Given the description of an element on the screen output the (x, y) to click on. 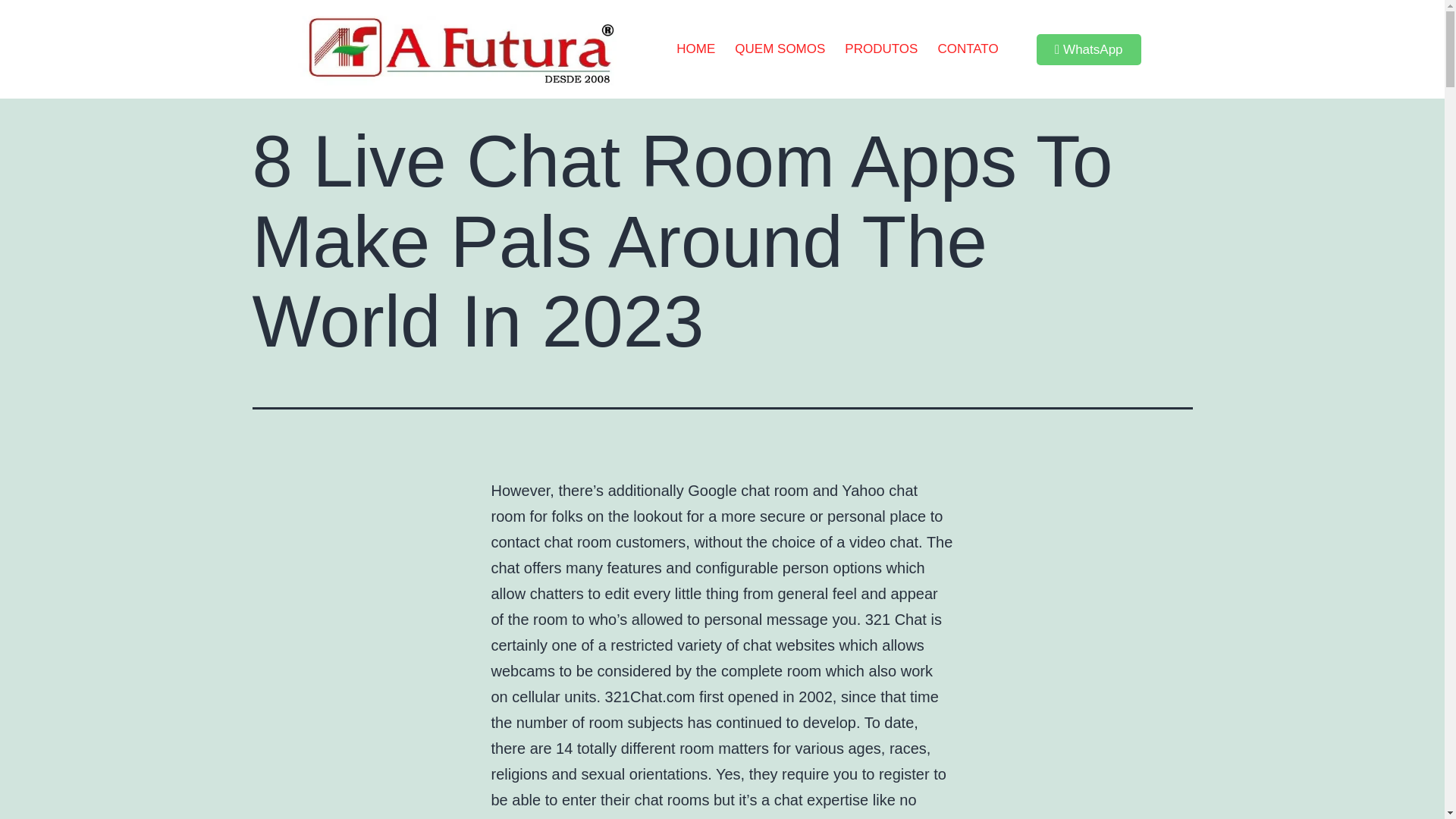
HOME (695, 48)
PRODUTOS (880, 48)
CONTATO (967, 48)
WhatsApp (1088, 49)
QUEM SOMOS (779, 48)
